Given the description of an element on the screen output the (x, y) to click on. 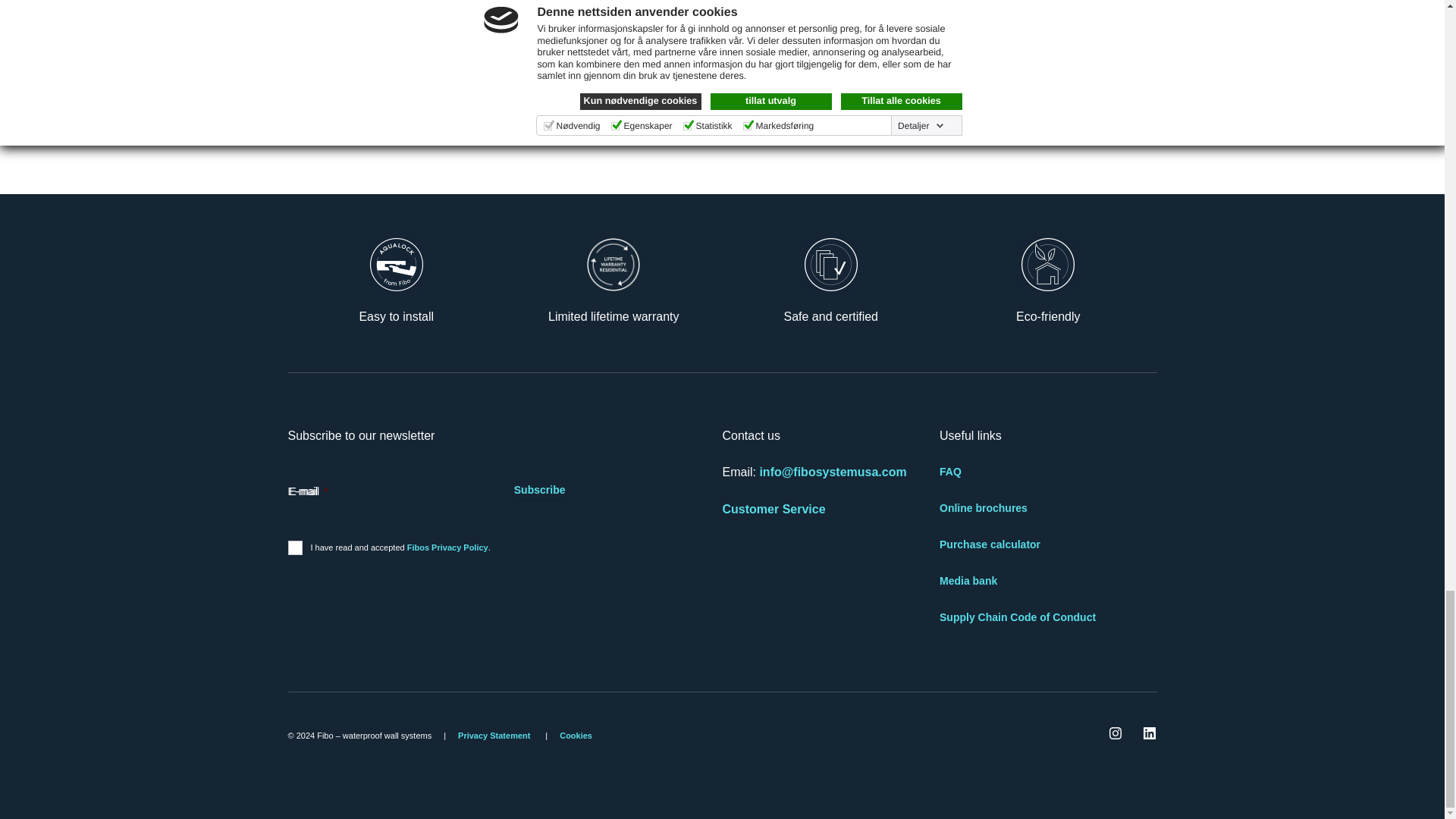
Subscribe (539, 489)
